Given the description of an element on the screen output the (x, y) to click on. 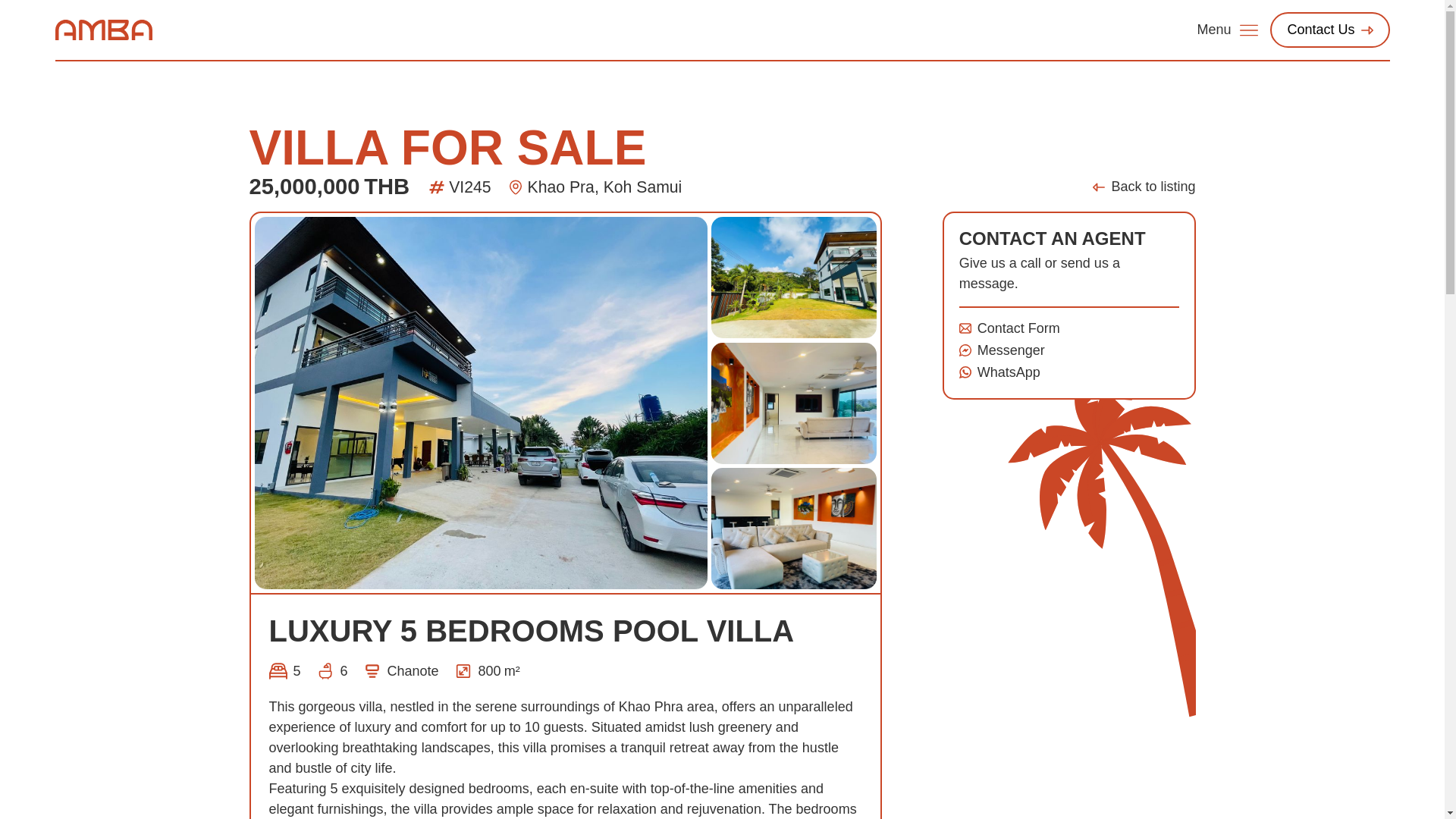
Contact Us (1329, 29)
Back to listing (1144, 186)
